Given the description of an element on the screen output the (x, y) to click on. 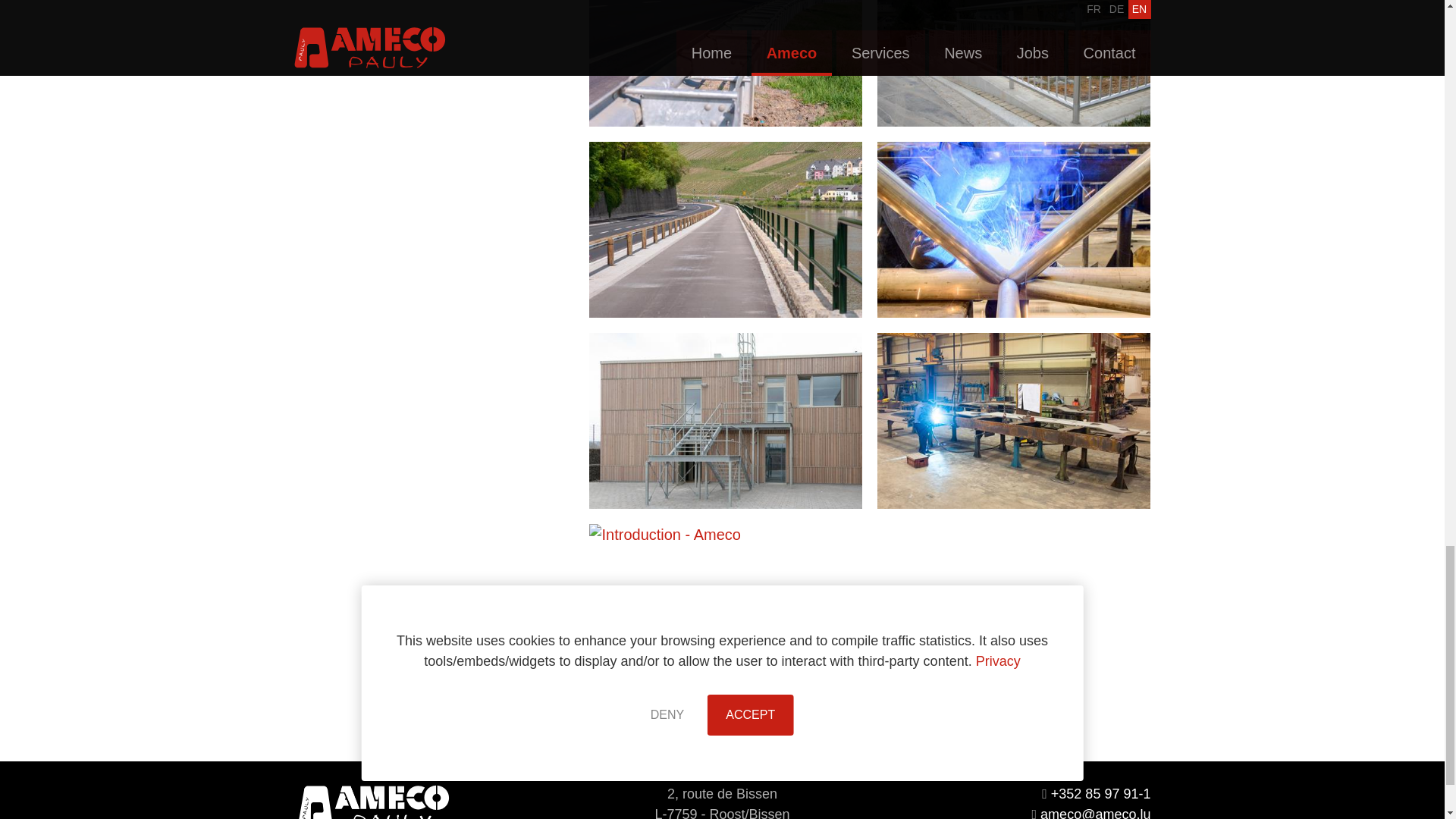
Introduction - Ameco (1013, 229)
Introduction - Ameco (725, 229)
Introduction - Ameco (725, 420)
Introduction - Ameco (725, 63)
Introduction - Ameco (1013, 420)
Introduction - Ameco (1013, 63)
Introduction - Ameco (725, 612)
